Given the description of an element on the screen output the (x, y) to click on. 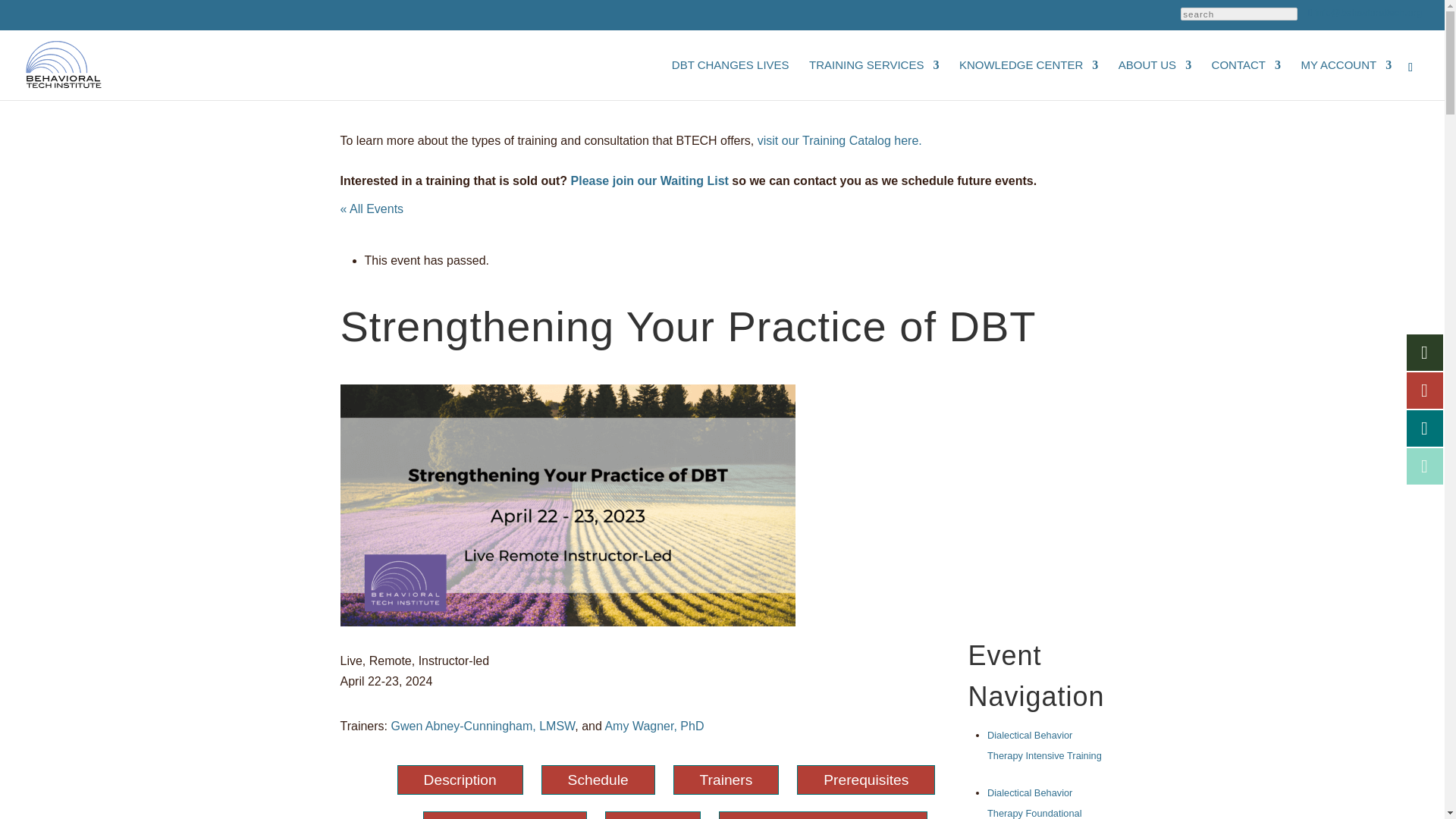
TRAINING SERVICES (874, 79)
ABOUT US (1154, 79)
DBT CHANGES LIVES (730, 79)
CONTACT (1246, 79)
KNOWLEDGE CENTER (1028, 79)
MY ACCOUNT (1345, 79)
